Given the description of an element on the screen output the (x, y) to click on. 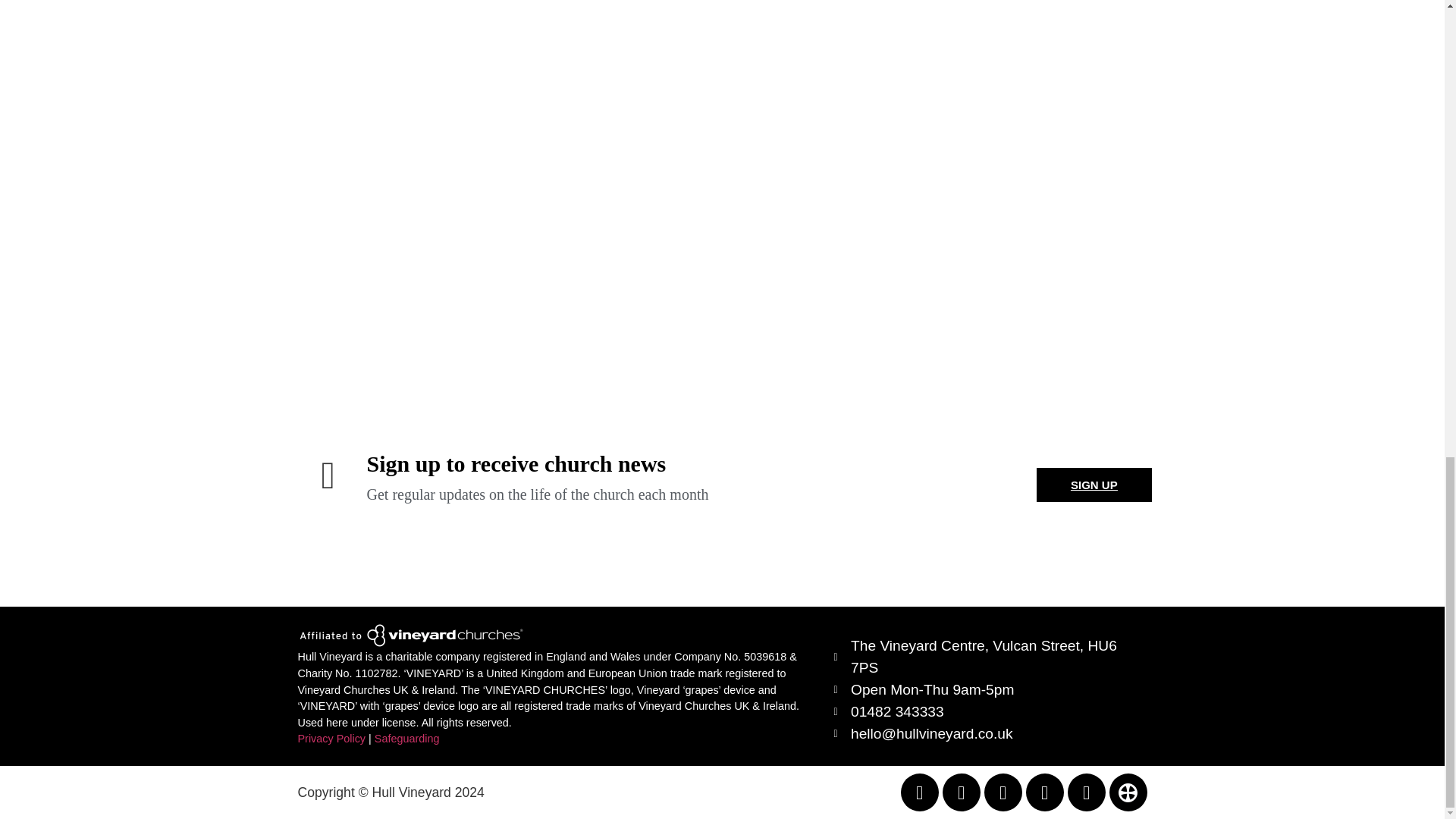
Safeguarding (406, 738)
01482 343333 (987, 712)
Privacy Policy (331, 738)
SIGN UP (1093, 484)
Open Mon-Thu 9am-5pm (987, 690)
The Vineyard Centre, Vulcan Street, HU6 7PS (987, 657)
